Given the description of an element on the screen output the (x, y) to click on. 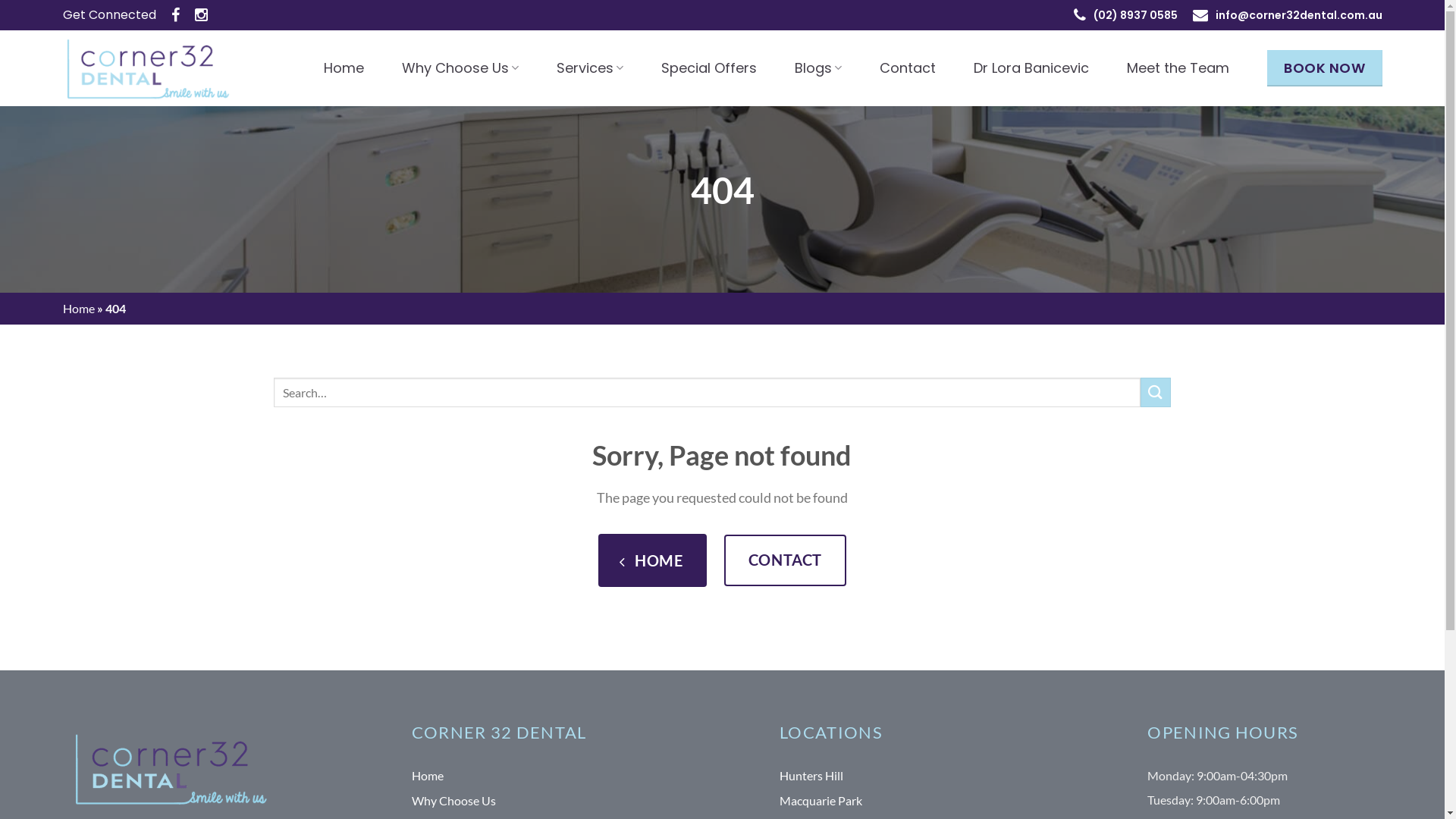
Macquarie Park Element type: text (820, 800)
info@corner32dental.com.au Element type: text (1297, 14)
Blogs Element type: text (817, 67)
Contact Element type: text (907, 67)
Special Offers Element type: text (708, 67)
Dr Lora Banicevic Element type: text (1030, 67)
Home Element type: text (78, 308)
Why Choose Us Element type: text (453, 800)
HOME Element type: text (652, 559)
Home Element type: text (427, 775)
(02) 8937 0585 Element type: text (1135, 14)
Services Element type: text (589, 67)
BOOK NOW Element type: text (1324, 68)
Home Element type: text (343, 67)
Why Choose Us Element type: text (459, 67)
CONTACT Element type: text (785, 560)
Meet the Team Element type: text (1177, 67)
Corner32 Element type: hover (156, 67)
Hunters Hill Element type: text (811, 775)
